Given the description of an element on the screen output the (x, y) to click on. 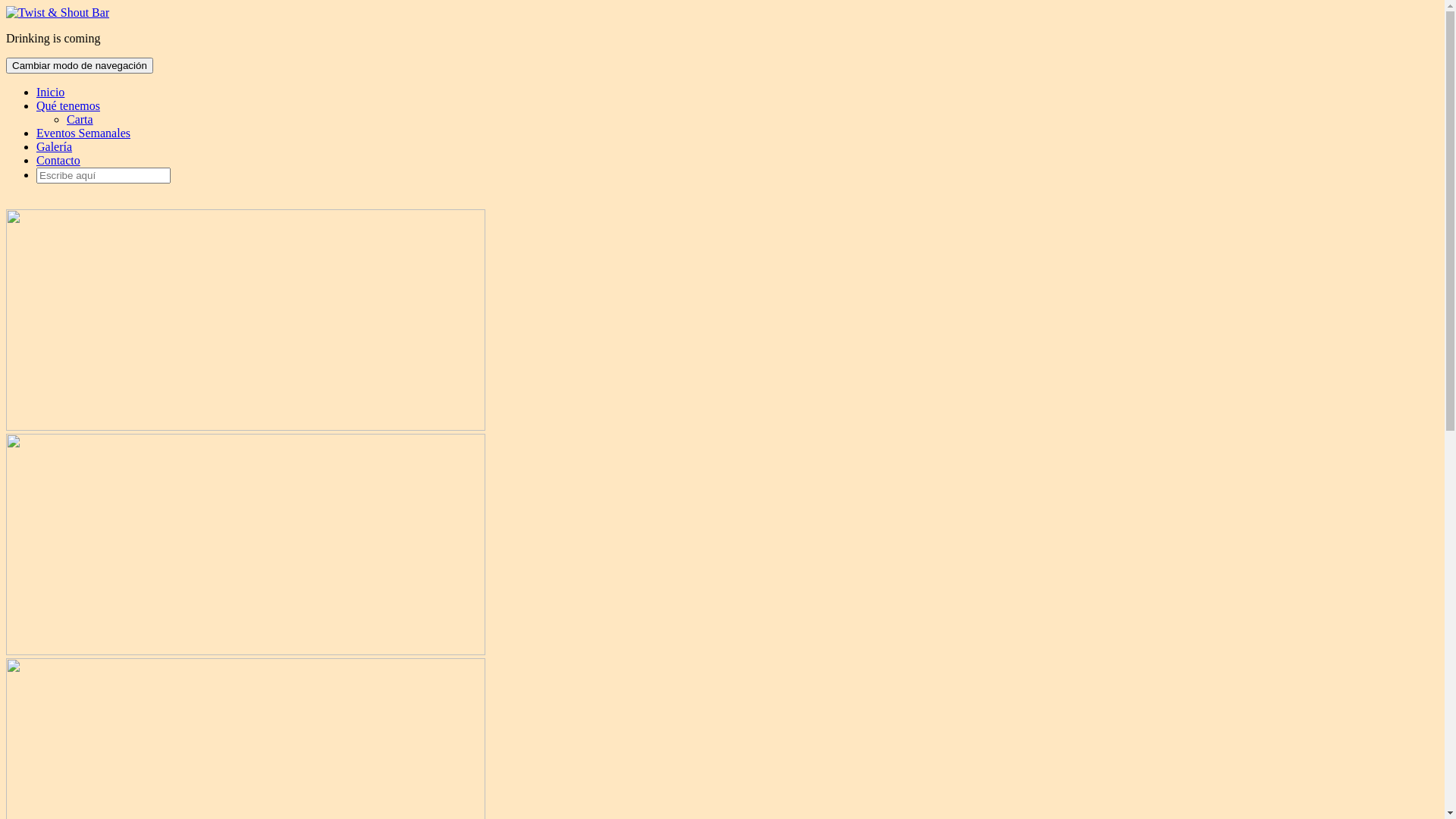
Inicio Element type: text (50, 91)
Eventos Semanales Element type: text (83, 132)
Contacto Element type: text (58, 159)
Carta Element type: text (79, 118)
